Given the description of an element on the screen output the (x, y) to click on. 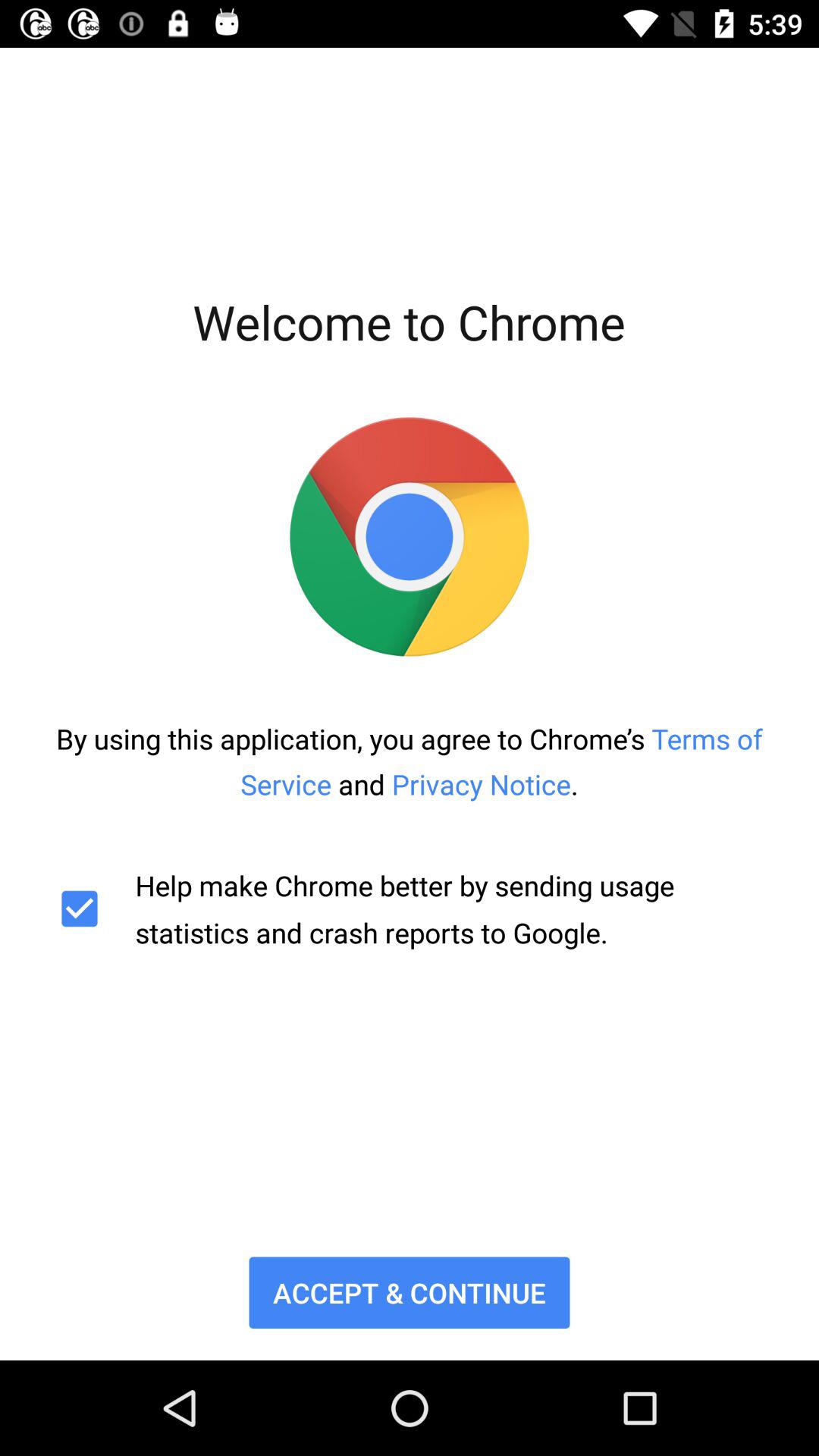
turn on the by using this (409, 761)
